Given the description of an element on the screen output the (x, y) to click on. 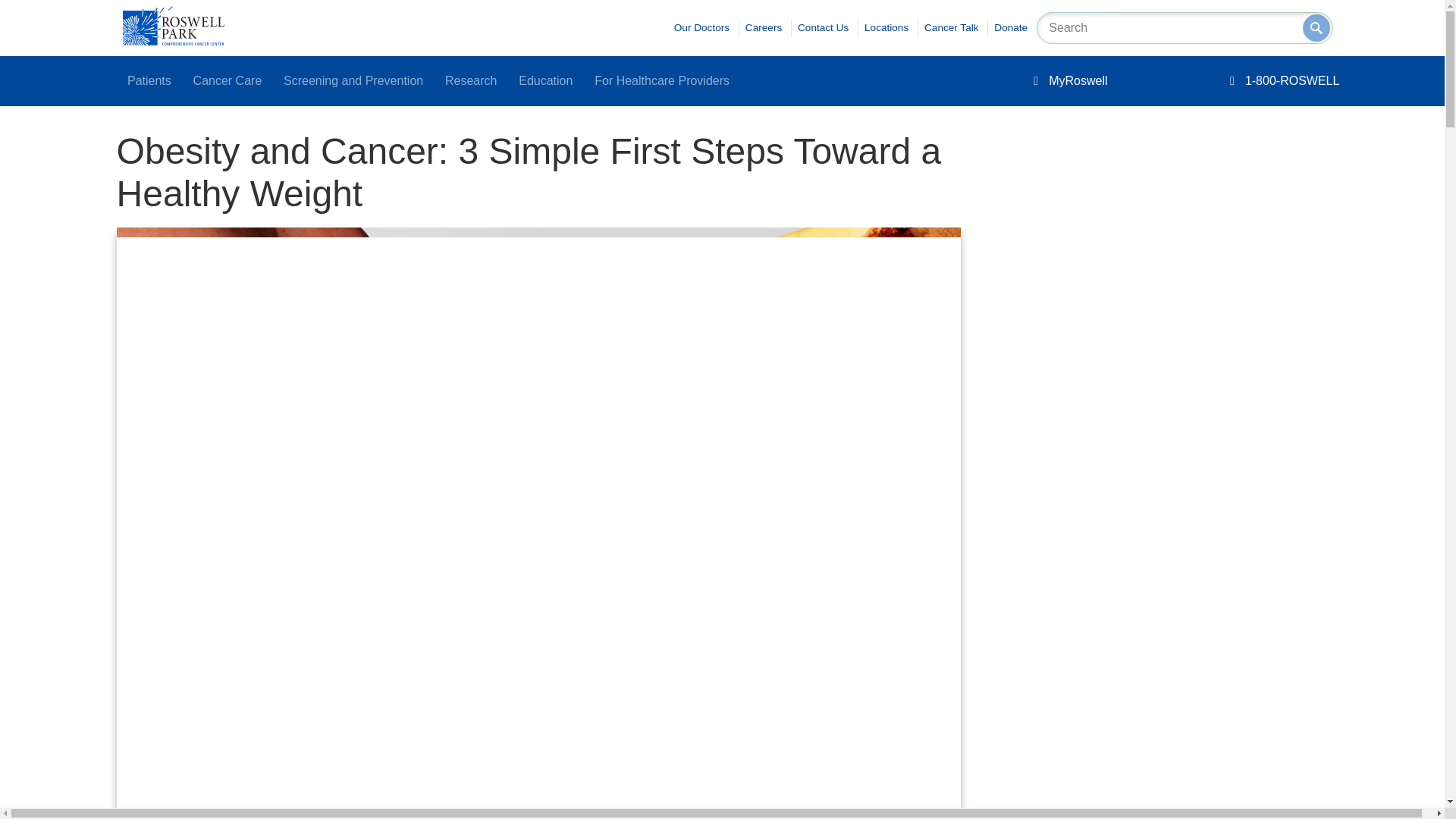
Patients (149, 81)
Home (173, 41)
